Given the description of an element on the screen output the (x, y) to click on. 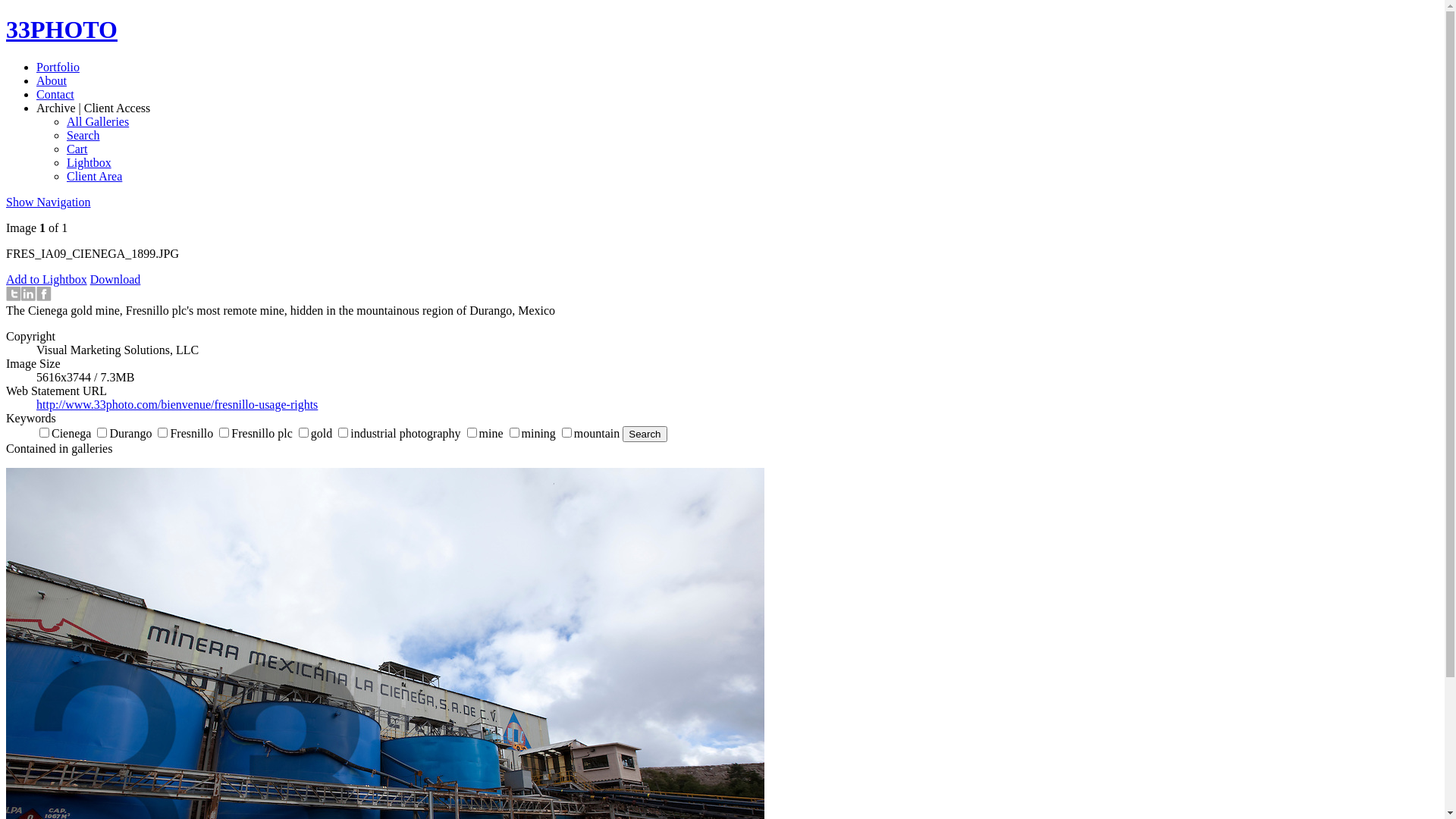
All Galleries Element type: text (97, 121)
Lightbox Element type: text (88, 162)
Contact Element type: text (55, 93)
Client Area Element type: text (94, 175)
33PHOTO Element type: text (61, 29)
Search Element type: text (644, 434)
About Element type: text (51, 80)
Download Element type: text (115, 279)
Portfolio Element type: text (57, 66)
Search Element type: text (83, 134)
Show Navigation Element type: text (48, 201)
Add to Lightbox Element type: text (46, 279)
http://www.33photo.com/bienvenue/fresnillo-usage-rights Element type: text (176, 404)
Cart Element type: text (76, 148)
